Given the description of an element on the screen output the (x, y) to click on. 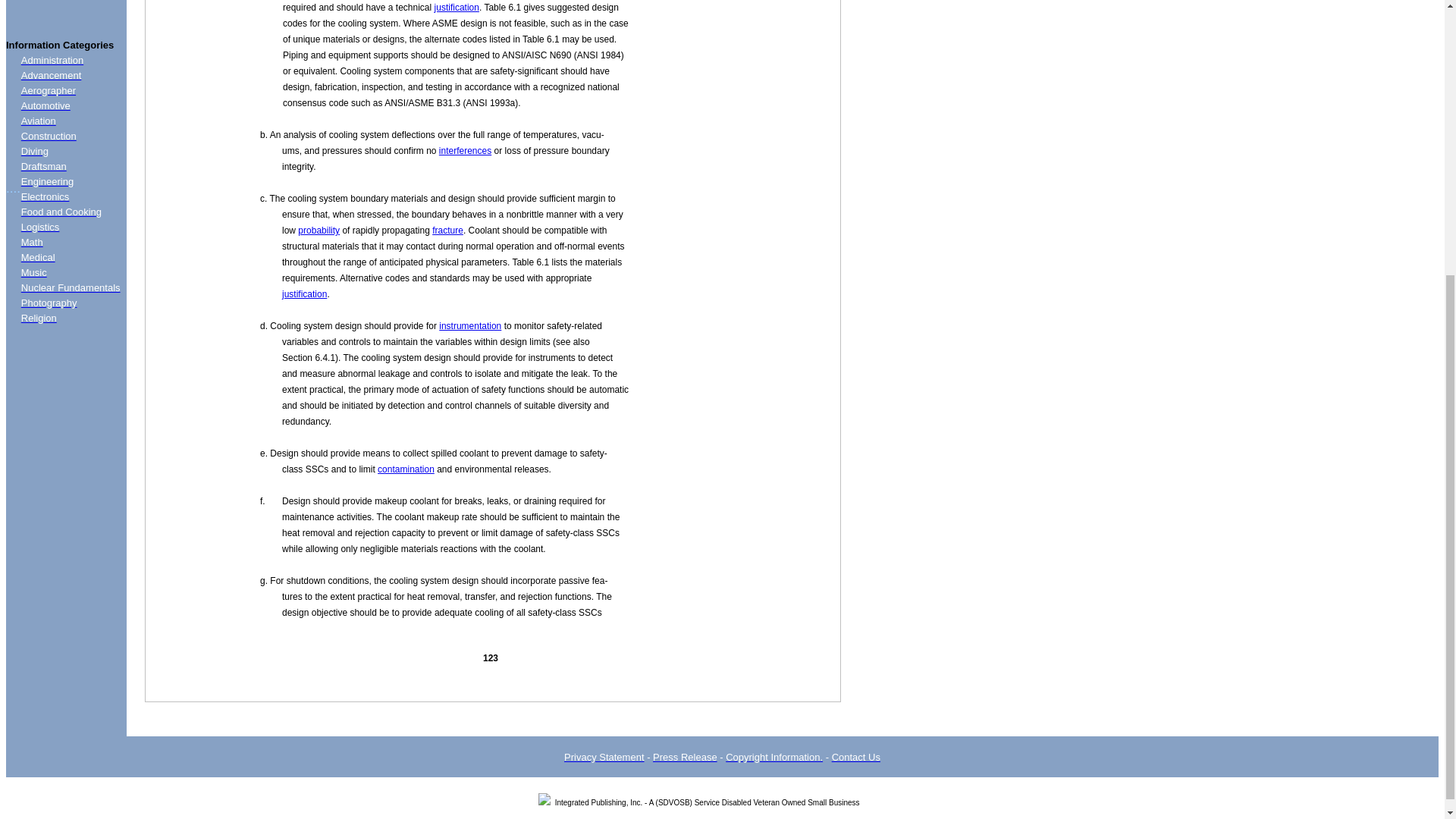
Contact Us (855, 756)
contamination (405, 469)
justification (456, 7)
Draftsman (43, 165)
Construction (49, 135)
Automotive (45, 105)
Music (33, 272)
interferences (465, 150)
Electronics (45, 196)
probability (318, 230)
